Given the description of an element on the screen output the (x, y) to click on. 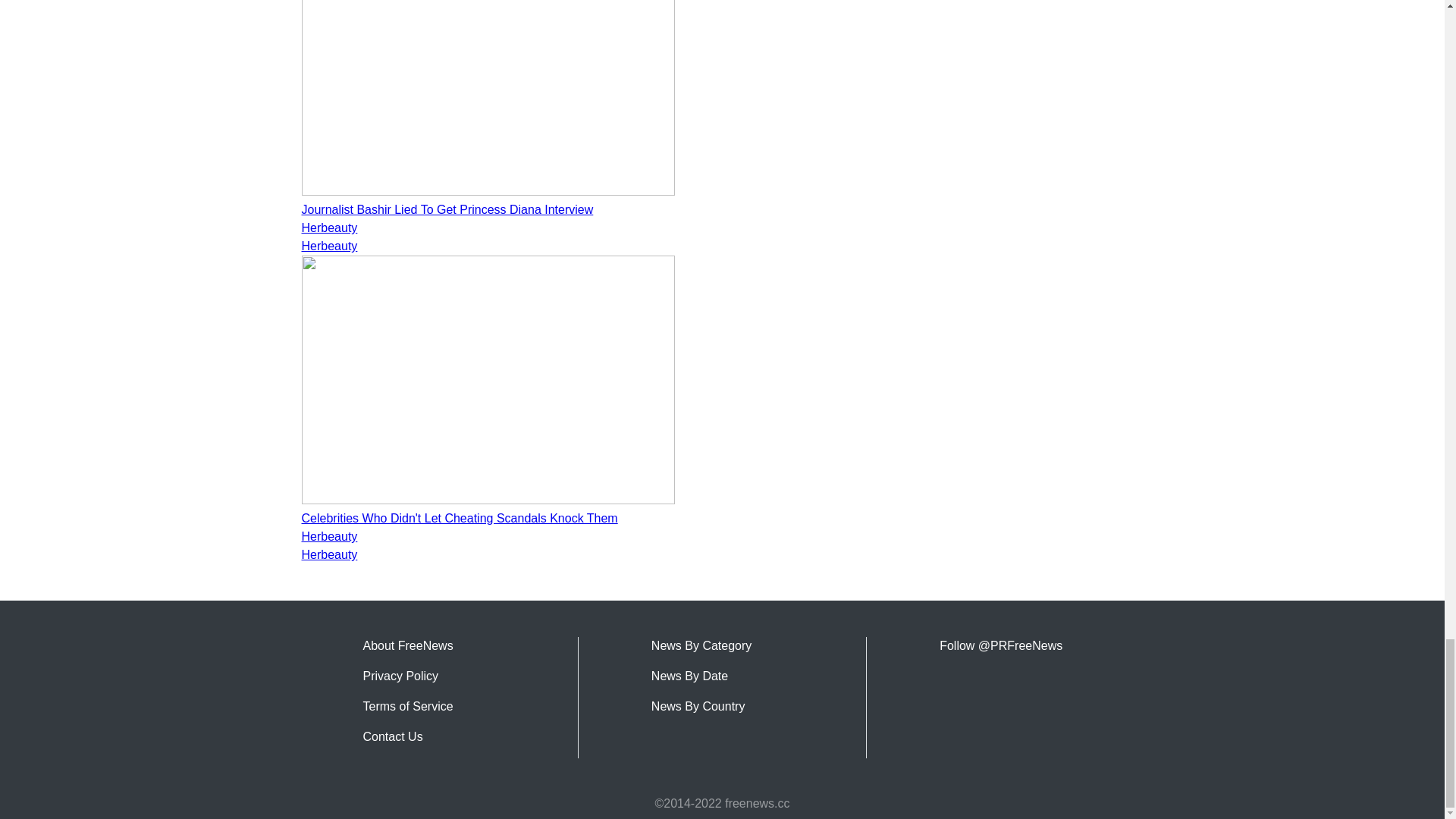
Privacy Policy (400, 675)
About FreeNews (407, 645)
Terms of Service (407, 706)
